Given the description of an element on the screen output the (x, y) to click on. 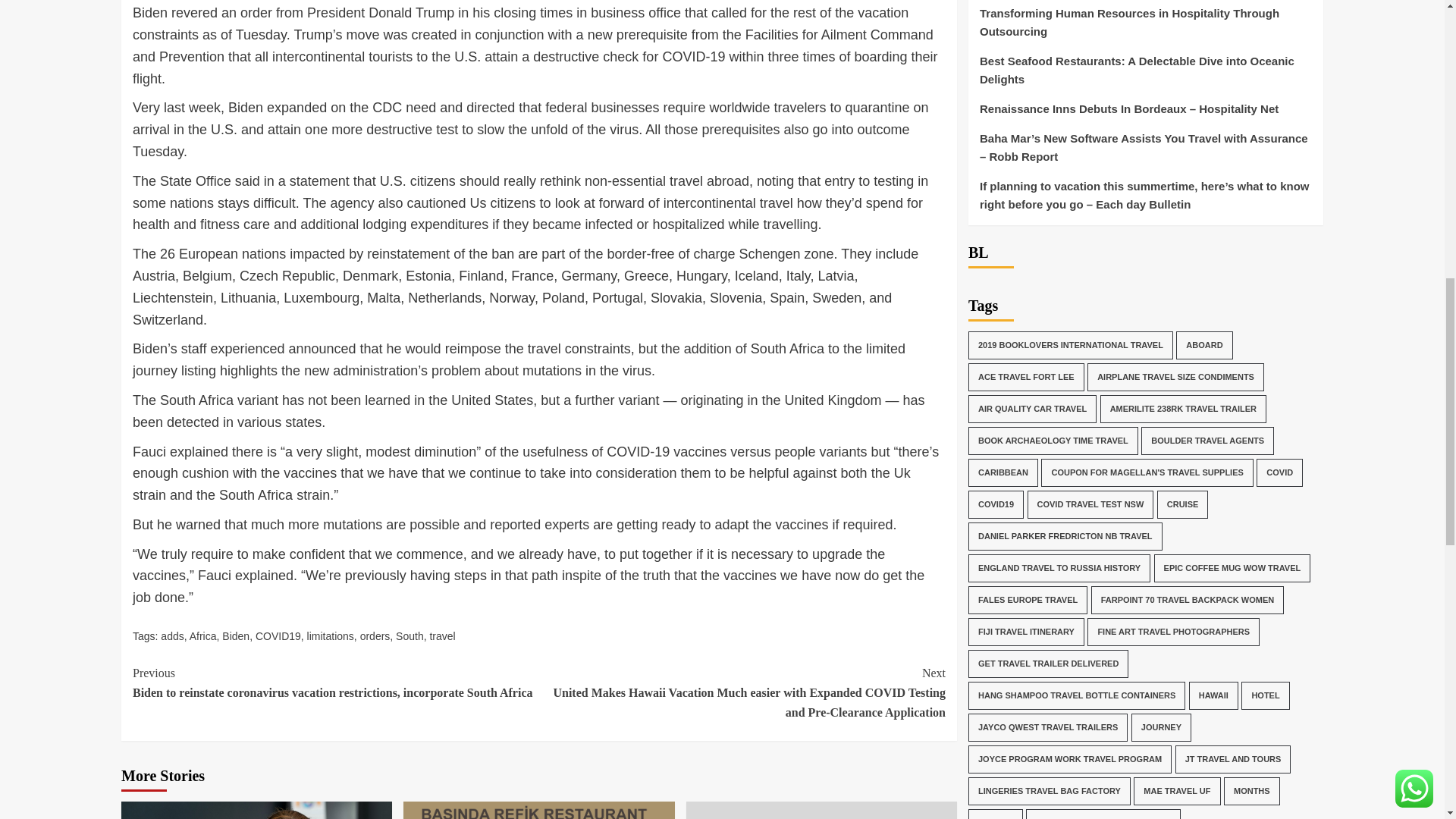
travel (441, 635)
South (409, 635)
limitations (330, 635)
Africa (202, 635)
COVID19 (278, 635)
adds (171, 635)
Biden (235, 635)
orders (374, 635)
